Given the description of an element on the screen output the (x, y) to click on. 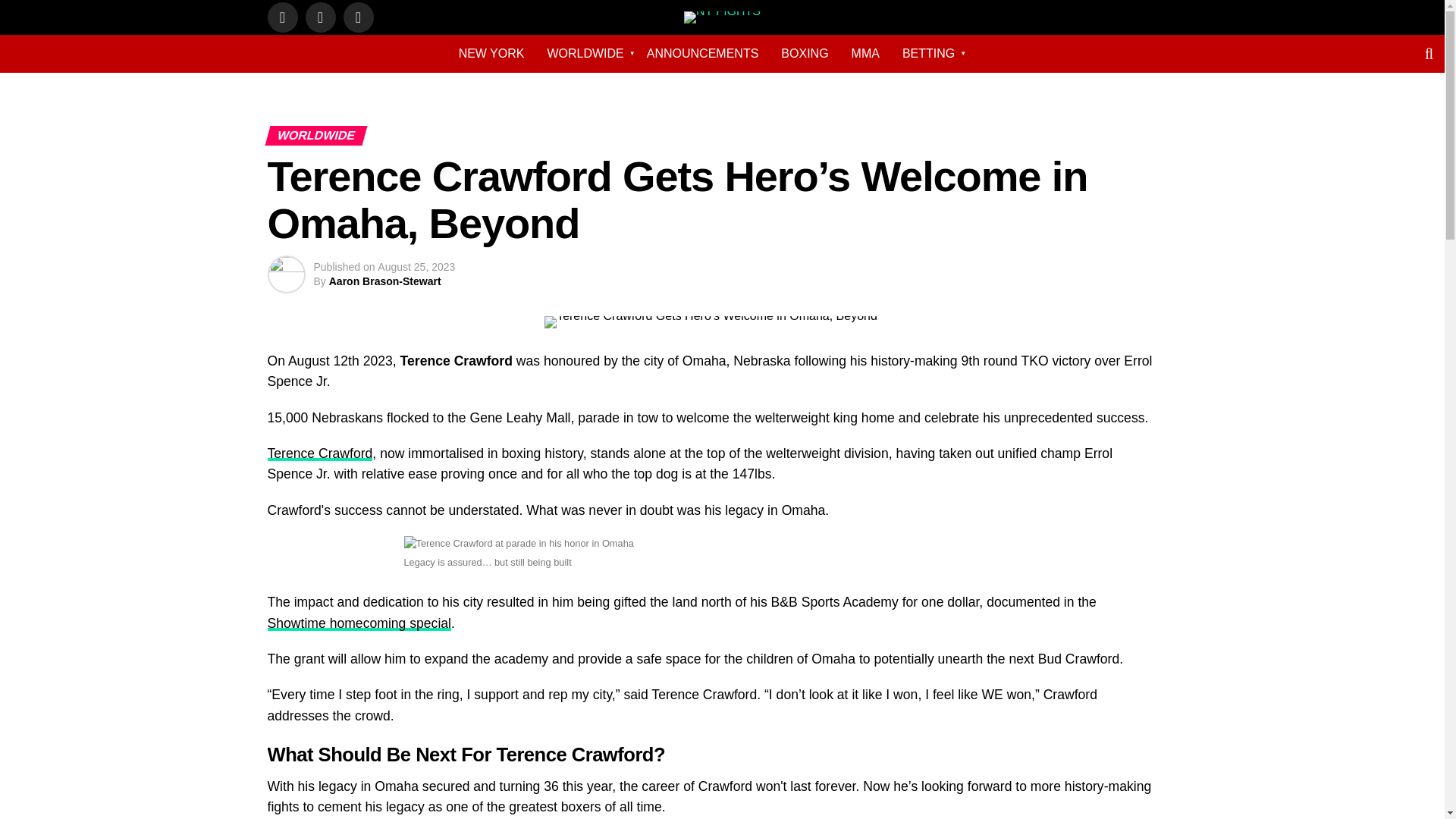
BOXING (805, 53)
MMA (865, 53)
WORLDWIDE (584, 53)
ANNOUNCEMENTS (702, 53)
NEW YORK (490, 53)
BETTING (928, 53)
